Given the description of an element on the screen output the (x, y) to click on. 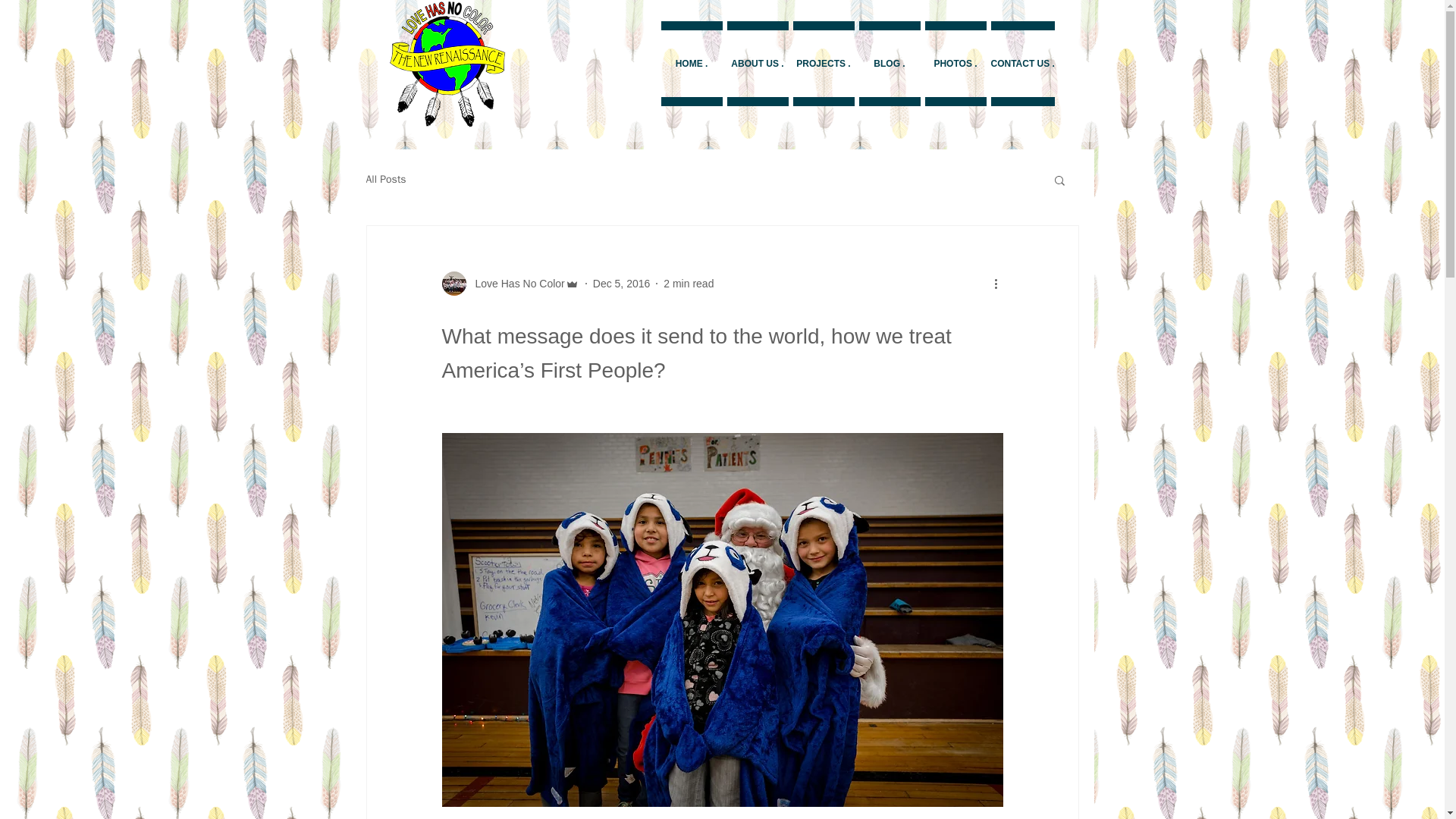
Love Has No Color (509, 283)
2 min read (688, 283)
Love-Has-No-Color-transpare.png (447, 64)
All Posts (385, 179)
Dec 5, 2016 (621, 283)
Love Has No Color (514, 283)
